Given the description of an element on the screen output the (x, y) to click on. 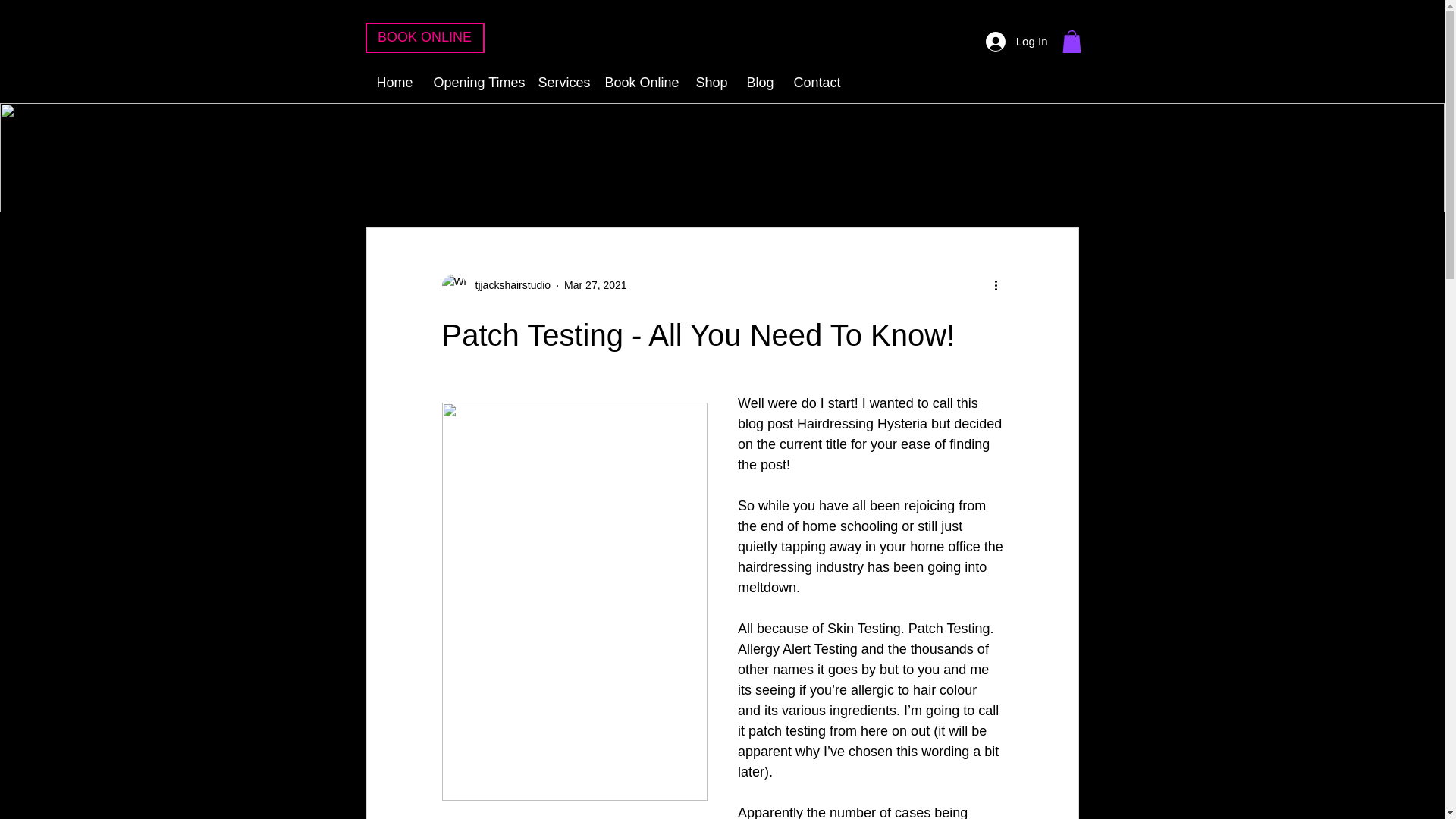
Mar 27, 2021 (595, 285)
Blog (759, 82)
Book Online (638, 82)
Opening Times (473, 82)
Log In (1016, 41)
Home (393, 82)
Contact (816, 82)
Services (558, 82)
Shop (709, 82)
tjjackshairstudio (507, 285)
tjjackshairstudio (495, 285)
BOOK ONLINE (424, 37)
